Given the description of an element on the screen output the (x, y) to click on. 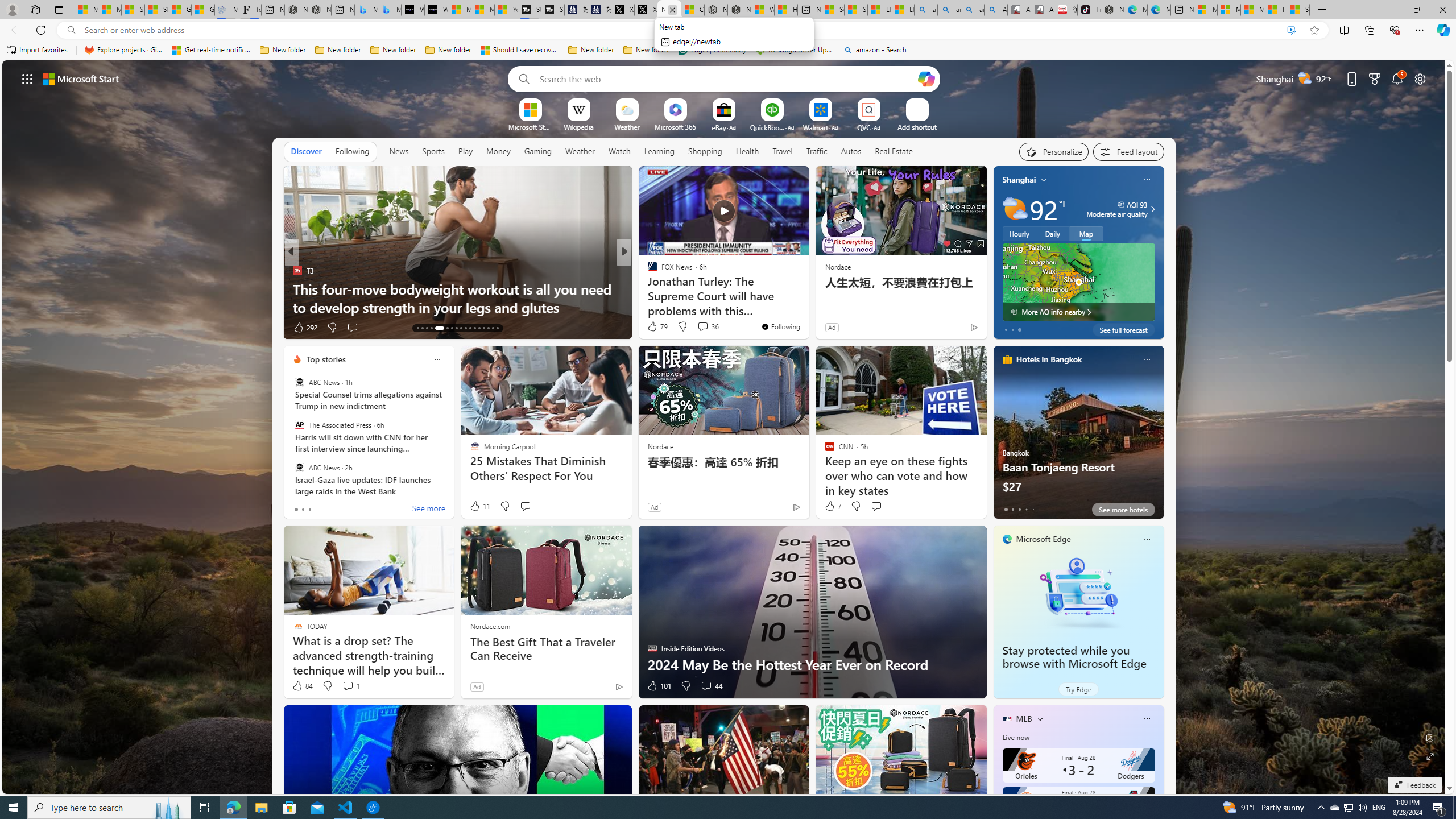
Play (465, 151)
Learning (659, 151)
Edit Background (1430, 737)
Sports (432, 151)
AutomationID: tab-15 (426, 328)
Nordace (659, 446)
19 Missteps That Will Make Others Lose All Respect for You (807, 298)
Open Copilot (925, 78)
See more (428, 509)
Microsoft Edge (1043, 538)
Add a site (916, 126)
This story is trending (255, 329)
Huge shark washes ashore at New York City beach | Watch (786, 9)
Workspaces (34, 9)
